Given the description of an element on the screen output the (x, y) to click on. 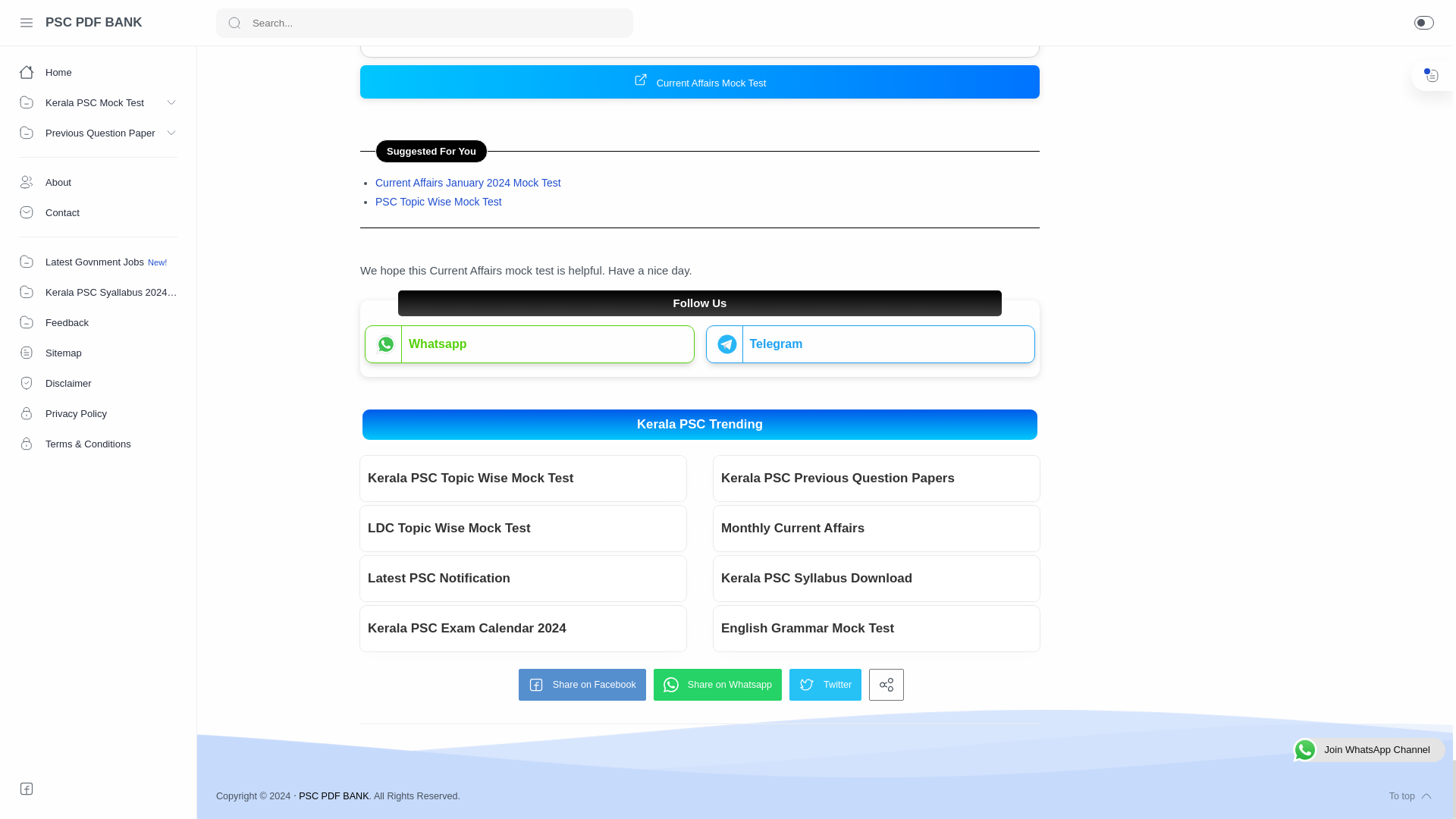
Latest PSC Notification (523, 578)
LDC Mock Test (523, 528)
Kerala PSC Syllabus Download (876, 578)
English Grammar (876, 628)
Kerala PSC Previous Question Papers (876, 478)
Monthly Current Affairs (876, 528)
Kerala PSC Exam Calendar 2024  (523, 628)
Kerala PSC Topic Wise Mock Test (523, 478)
Share to Twitter (825, 685)
